Given the description of an element on the screen output the (x, y) to click on. 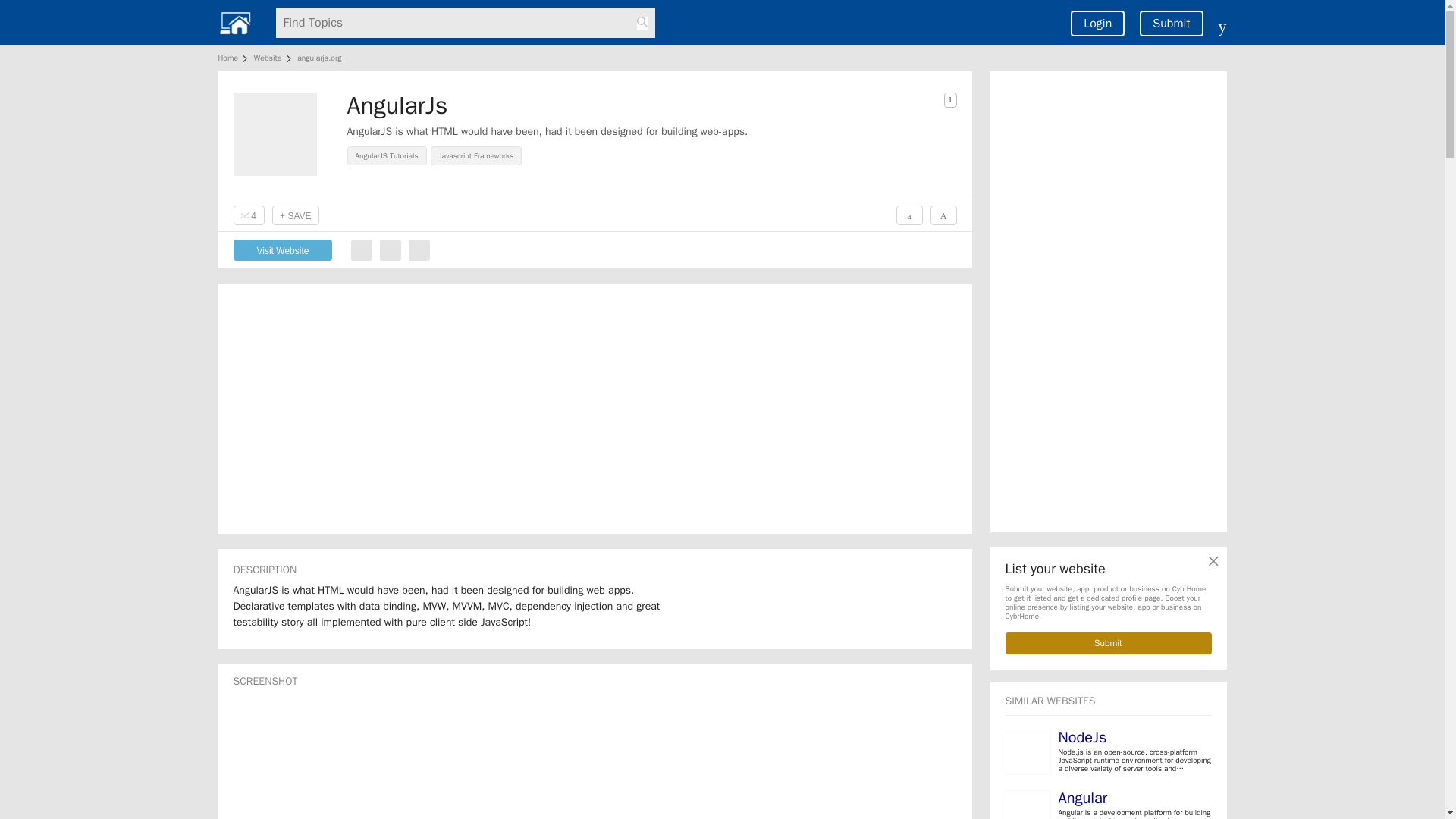
Login (1097, 23)
AngularJS Tutorials (388, 154)
Javascript Frameworks (477, 154)
NodeJs (1082, 737)
Google Plus (419, 249)
Github (389, 249)
Submit (1171, 23)
4 (248, 215)
Wikipedia (361, 249)
Visit Website (282, 250)
Home (230, 57)
Submit (1108, 643)
